Given the description of an element on the screen output the (x, y) to click on. 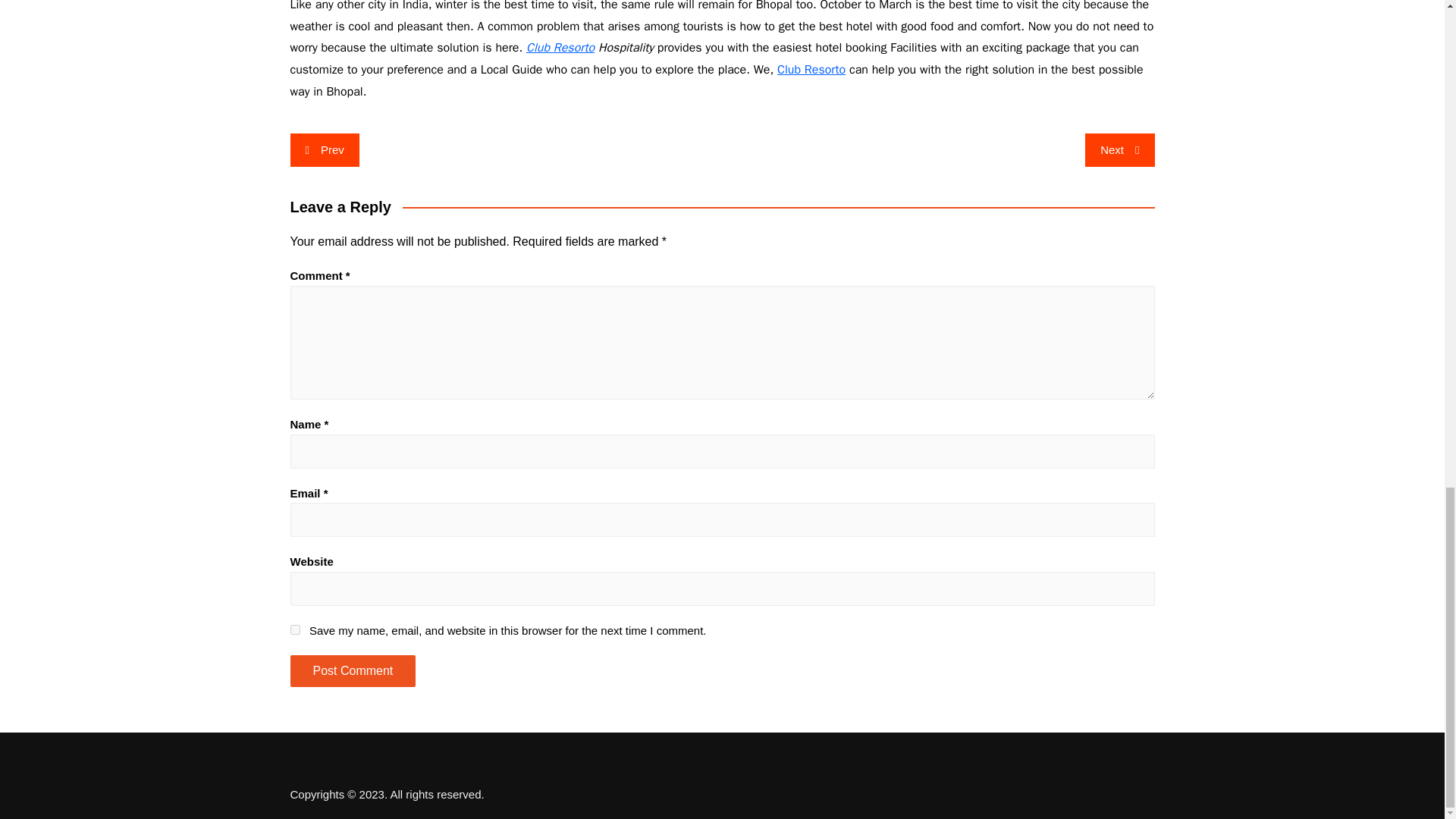
Post Comment (351, 671)
Post Comment (351, 671)
yes (294, 629)
Prev (323, 150)
Club Resorto (559, 47)
Next (1119, 150)
Club Resorto (811, 69)
